Given the description of an element on the screen output the (x, y) to click on. 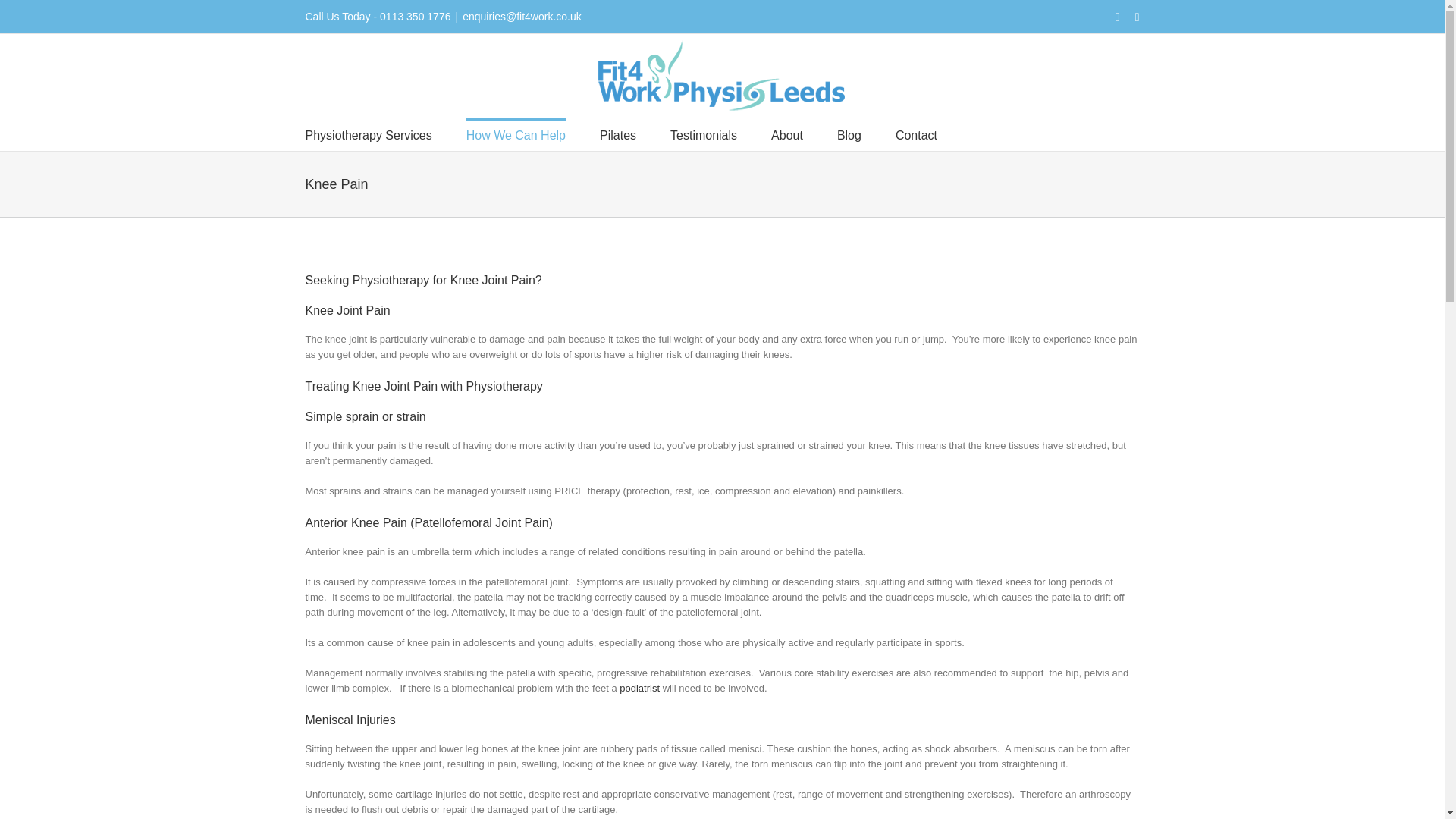
Conditions Treated (515, 133)
Pilates at Physio Leeds (617, 133)
What Others Say About Physio Leeds (702, 133)
How We Can Help (515, 133)
podiatrist (641, 687)
What is Physio? (787, 133)
Pilates (617, 133)
Testimonials (702, 133)
About (787, 133)
Contact Physio Leeds (916, 133)
Physiotherapy Services (367, 133)
Contact (916, 133)
